Given the description of an element on the screen output the (x, y) to click on. 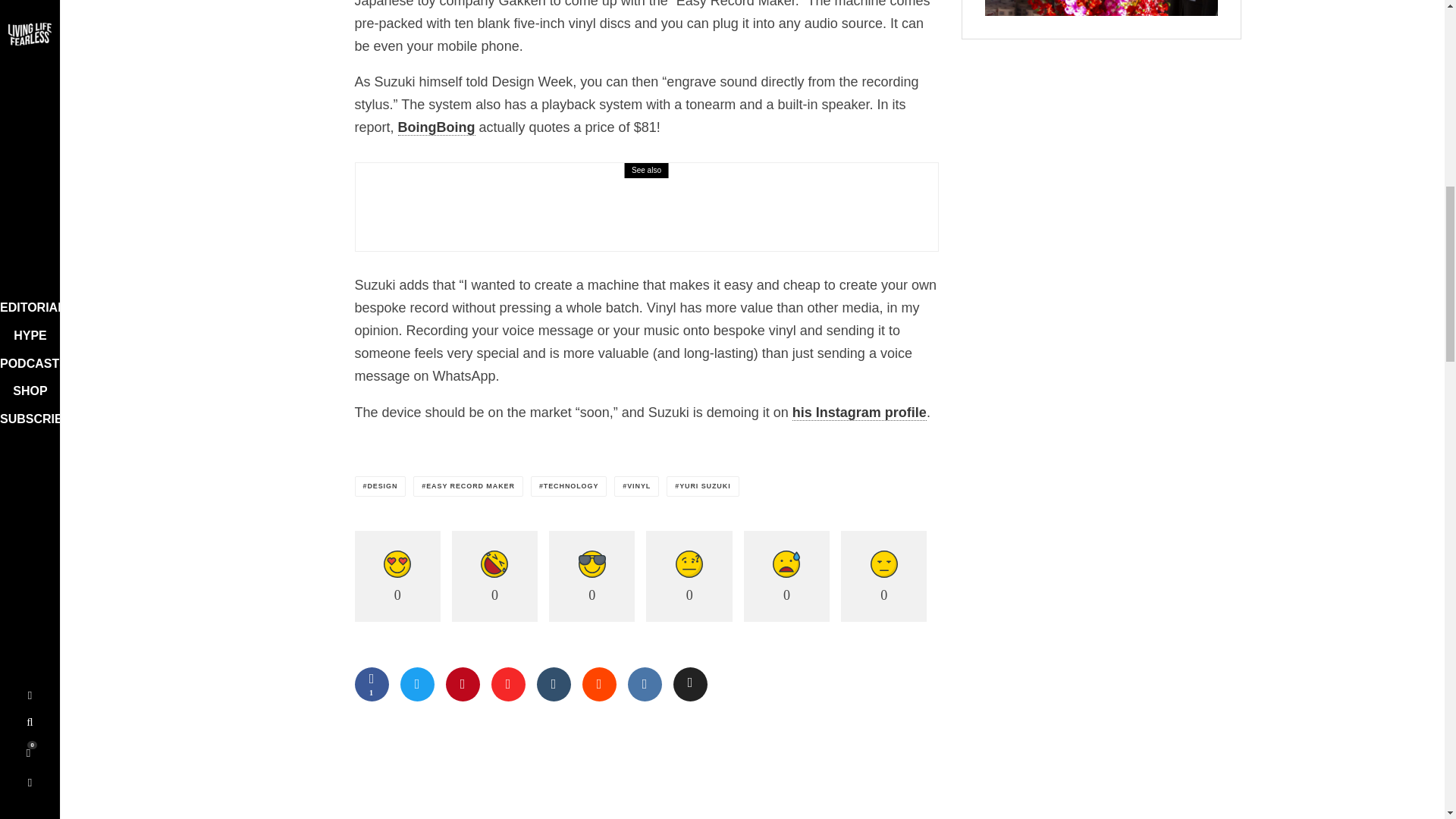
BoingBoing (436, 127)
EASY RECORD MAKER (467, 485)
TECHNOLOGY (569, 485)
DESIGN (380, 485)
his Instagram profile (859, 412)
